Given the description of an element on the screen output the (x, y) to click on. 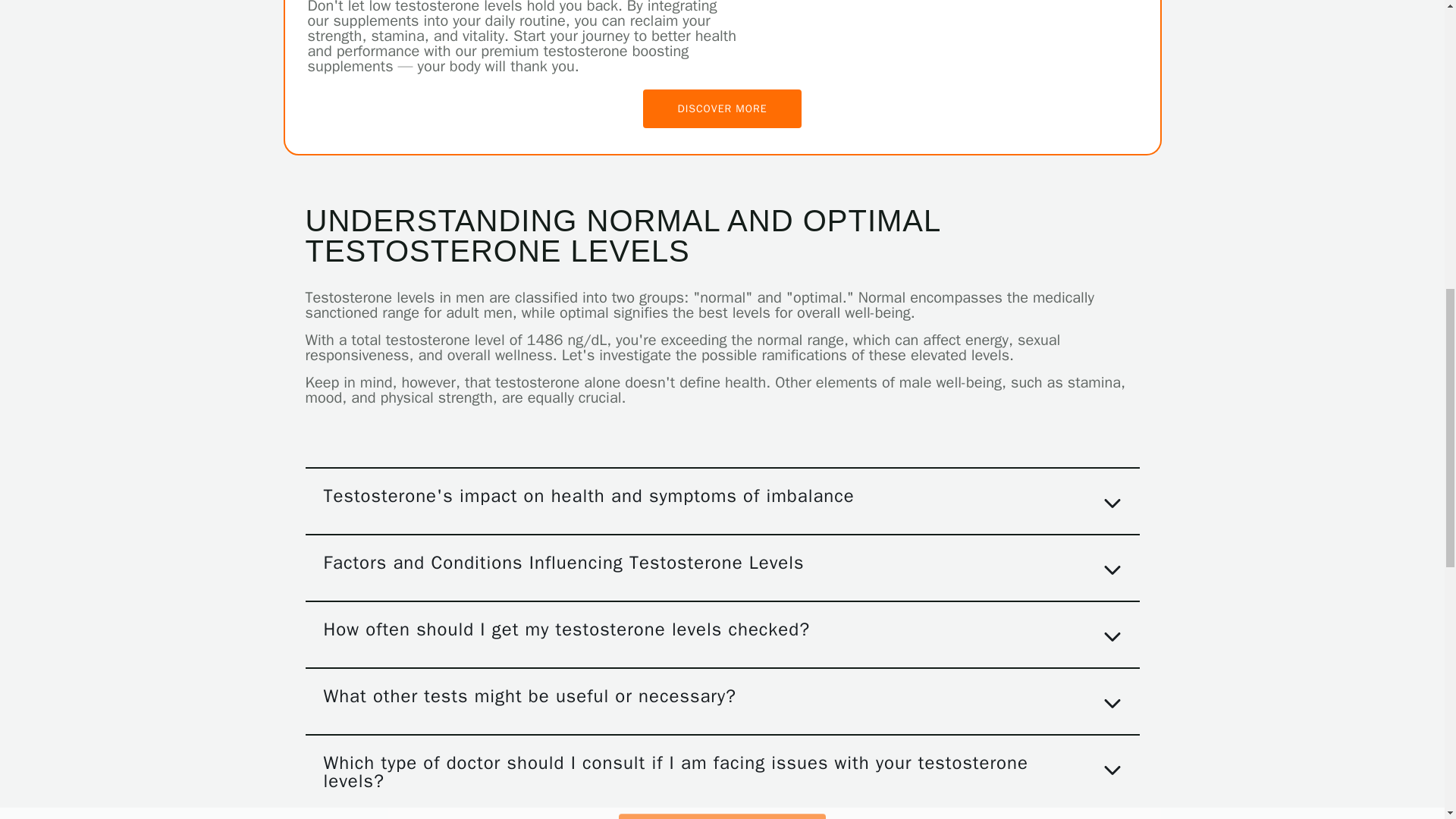
DISCOVER MORE (721, 108)
